Given the description of an element on the screen output the (x, y) to click on. 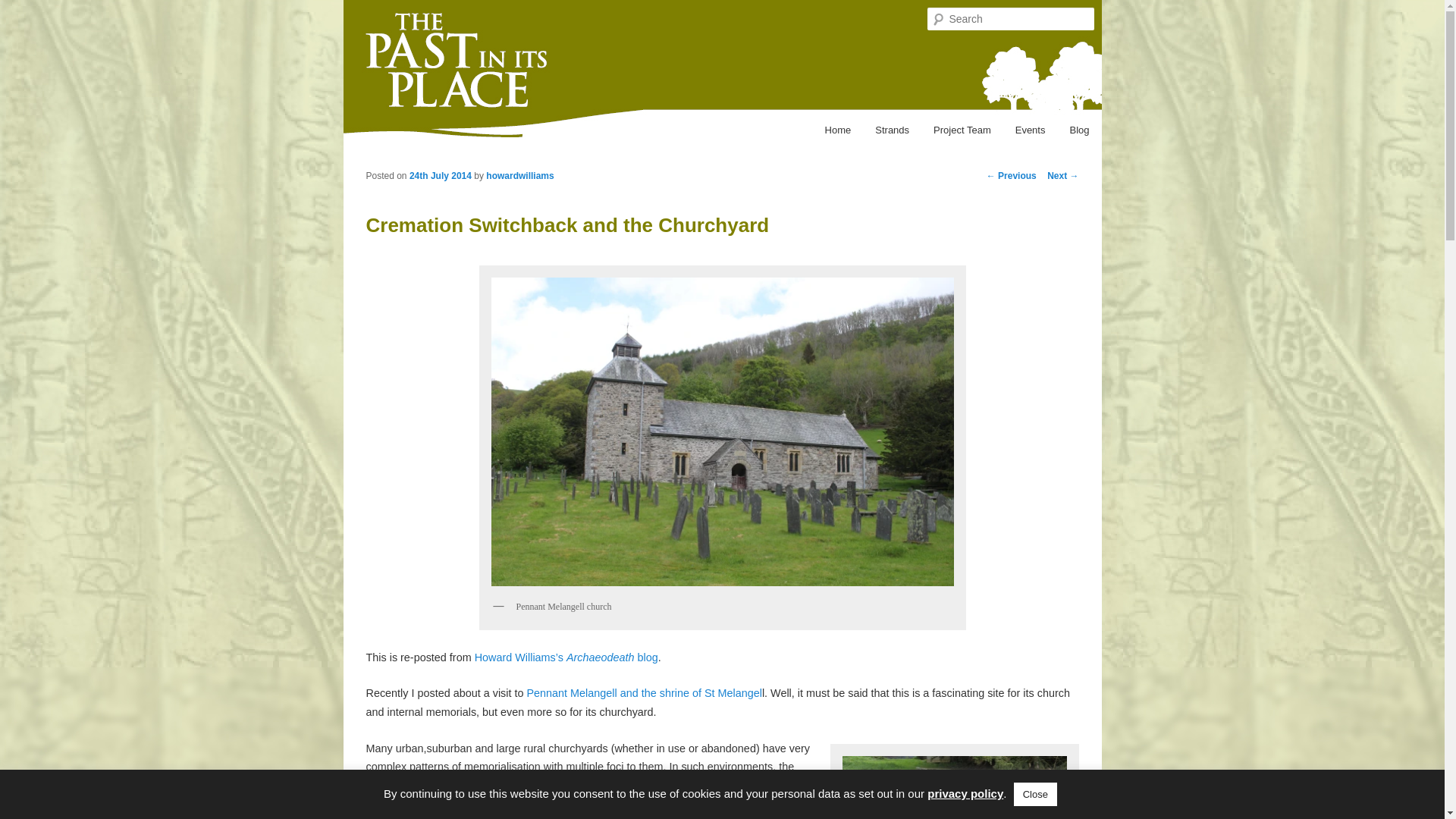
privacy policy (965, 793)
Skip to primary content (355, 125)
Search (24, 8)
Strands (892, 130)
Home (837, 130)
Blog (1078, 130)
howardwilliams (519, 175)
Skip to primary content (355, 125)
Project Team (962, 130)
Archaeodeath (564, 657)
